Given the description of an element on the screen output the (x, y) to click on. 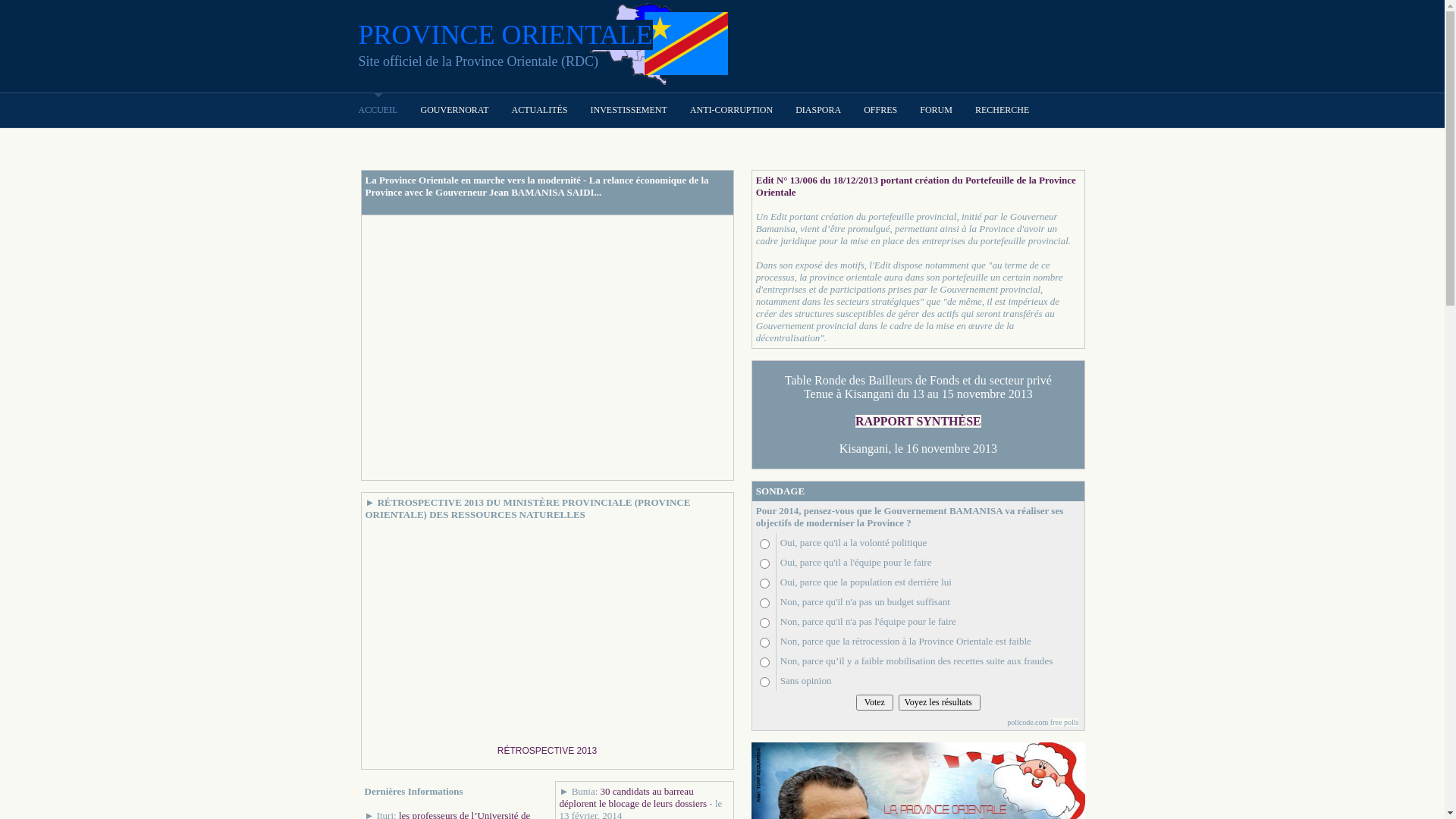
INVESTISSEMENT Element type: text (627, 110)
OFFRES Element type: text (880, 110)
 Votez  Element type: text (874, 702)
free polls Element type: text (1064, 722)
ACCUEIL Element type: text (377, 110)
GOUVERNORAT Element type: text (454, 110)
RECHERCHE Element type: text (1002, 110)
PROVINCE ORIENTALE Element type: text (504, 34)
DIASPORA Element type: text (817, 110)
FORUM Element type: text (935, 110)
ANTI-CORRUPTION Element type: text (731, 110)
